Given the description of an element on the screen output the (x, y) to click on. 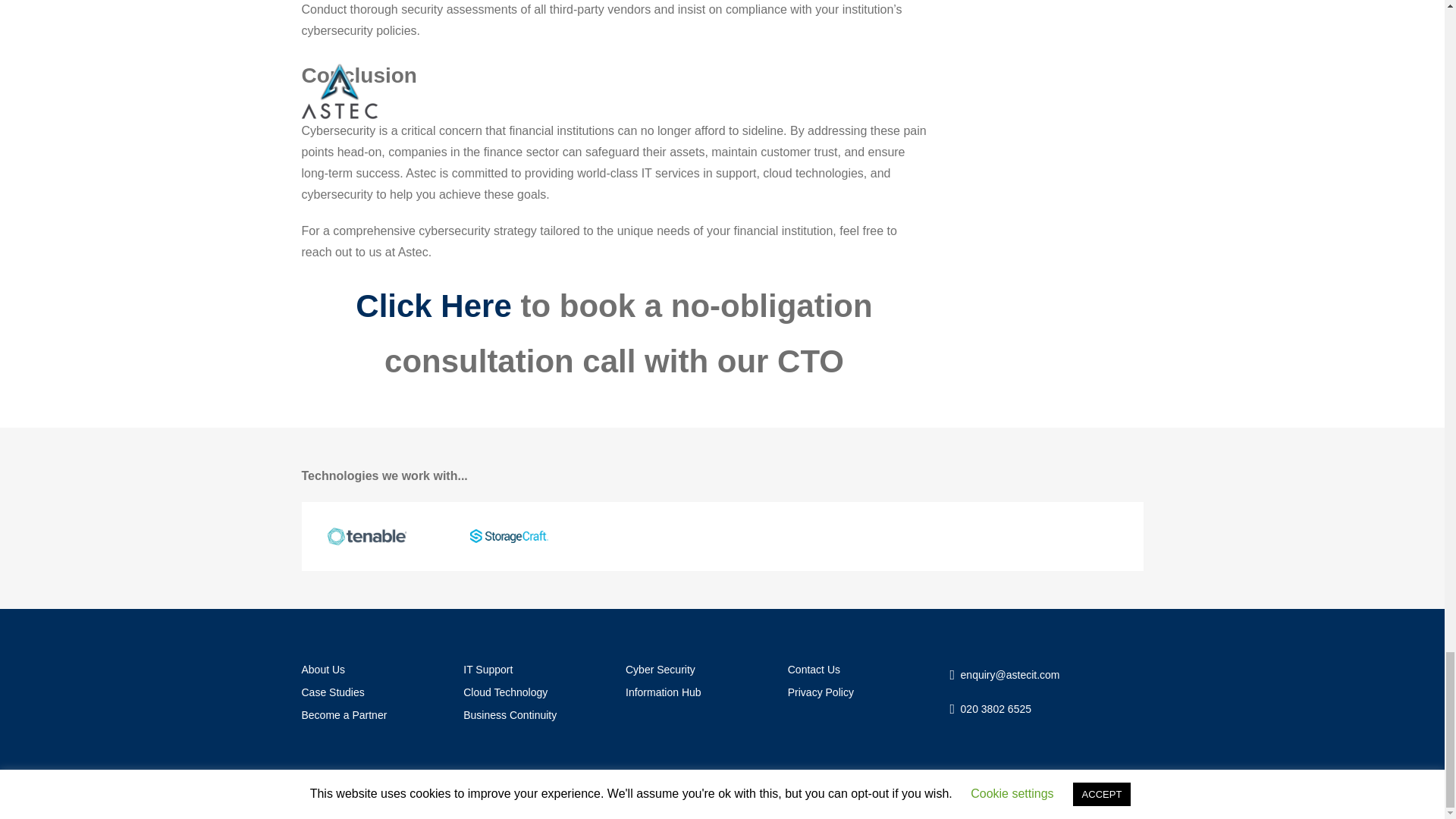
Click Here (433, 305)
About Us (371, 669)
Become a Partner (371, 714)
Case Studies (371, 691)
